Given the description of an element on the screen output the (x, y) to click on. 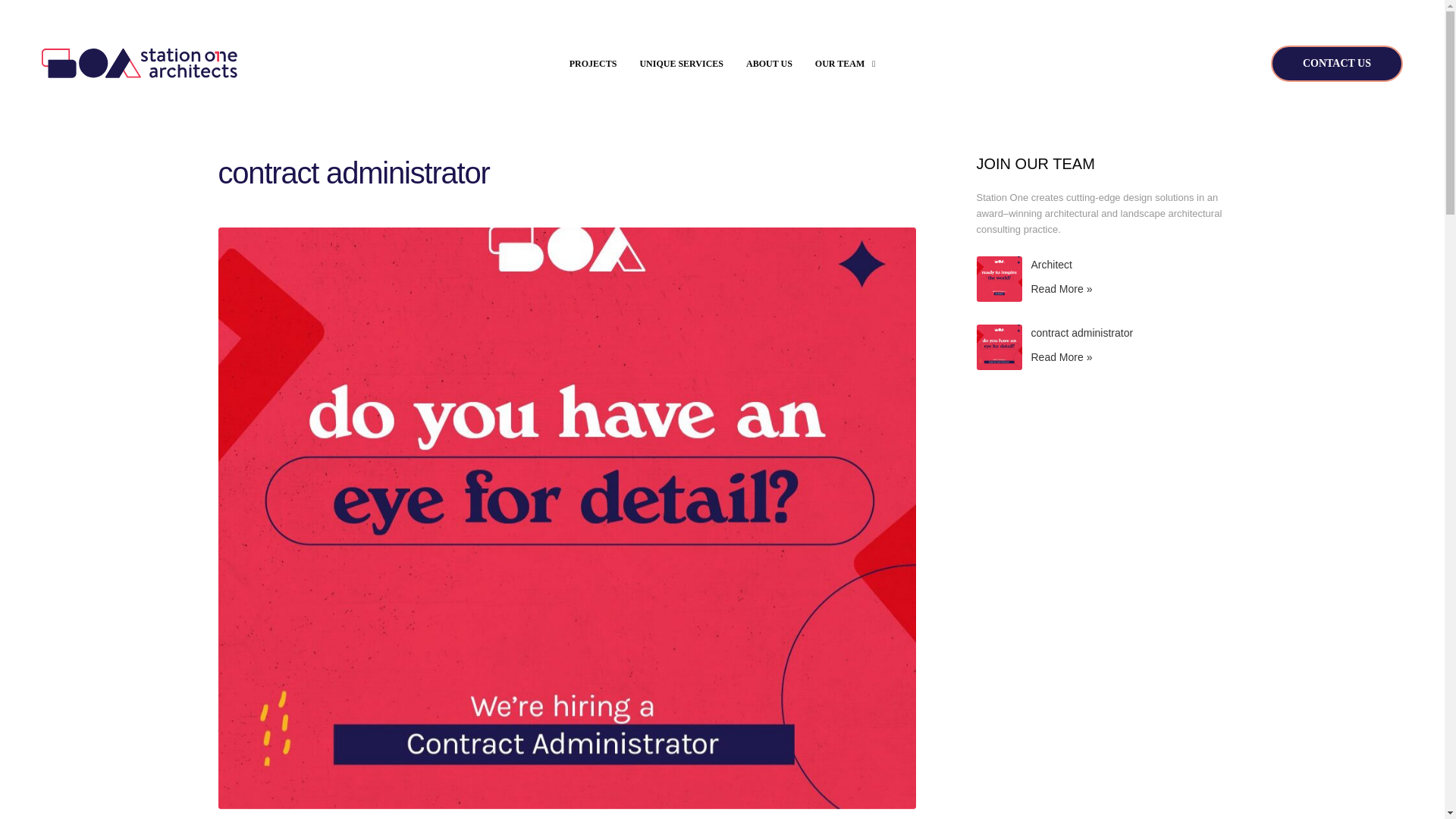
Station One (139, 63)
Architect (1050, 264)
PROJECTS (593, 63)
contract administrator (1082, 332)
Contact Us (1337, 63)
ABOUT US (768, 63)
UNIQUE SERVICES (681, 63)
OUR TEAM (845, 63)
CONTACT US (1337, 63)
